Given the description of an element on the screen output the (x, y) to click on. 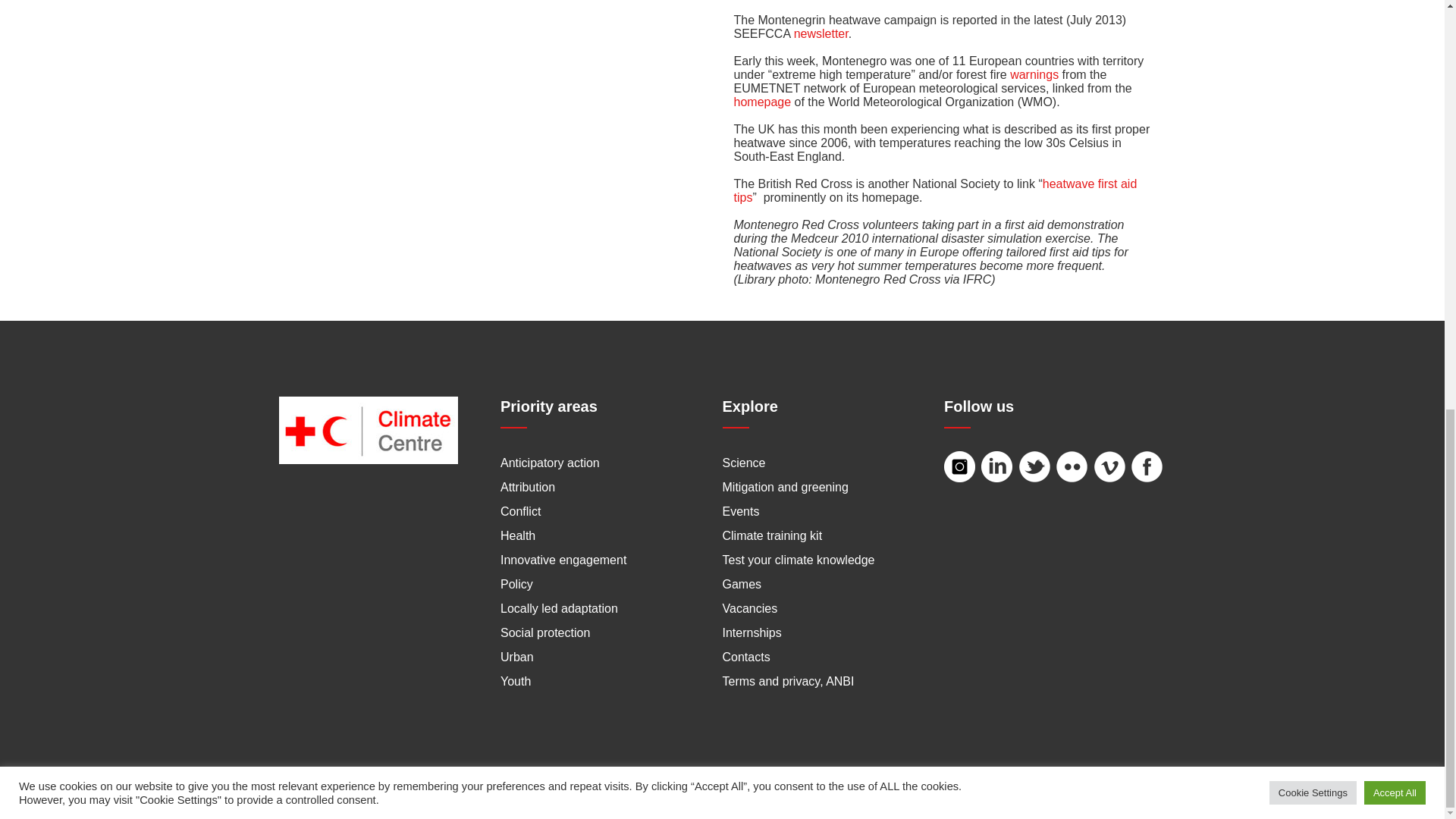
Mitigation and greening (784, 486)
Anticipatory action (549, 462)
Urban (517, 656)
heatwave first aid tips (935, 190)
Science (743, 462)
Conflict (520, 511)
Health (517, 535)
homepage (762, 101)
Policy (516, 584)
Locally led adaptation (558, 608)
